Given the description of an element on the screen output the (x, y) to click on. 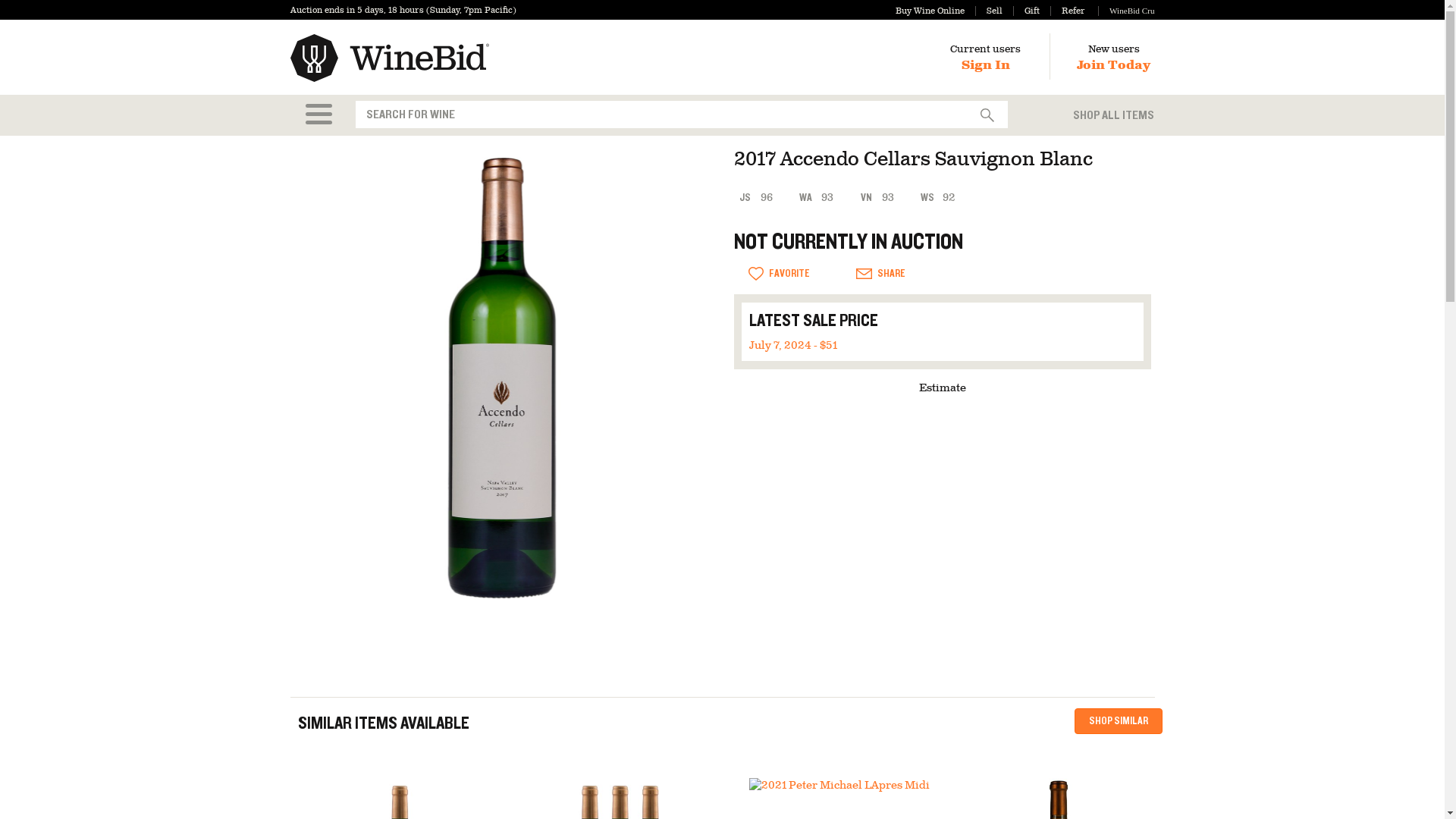
Sell (989, 10)
WineBid Cru (1125, 10)
Join Today (1113, 64)
Gift (1026, 10)
Refer (1066, 10)
Sign In (985, 64)
Buy Wine Online (929, 10)
